Given the description of an element on the screen output the (x, y) to click on. 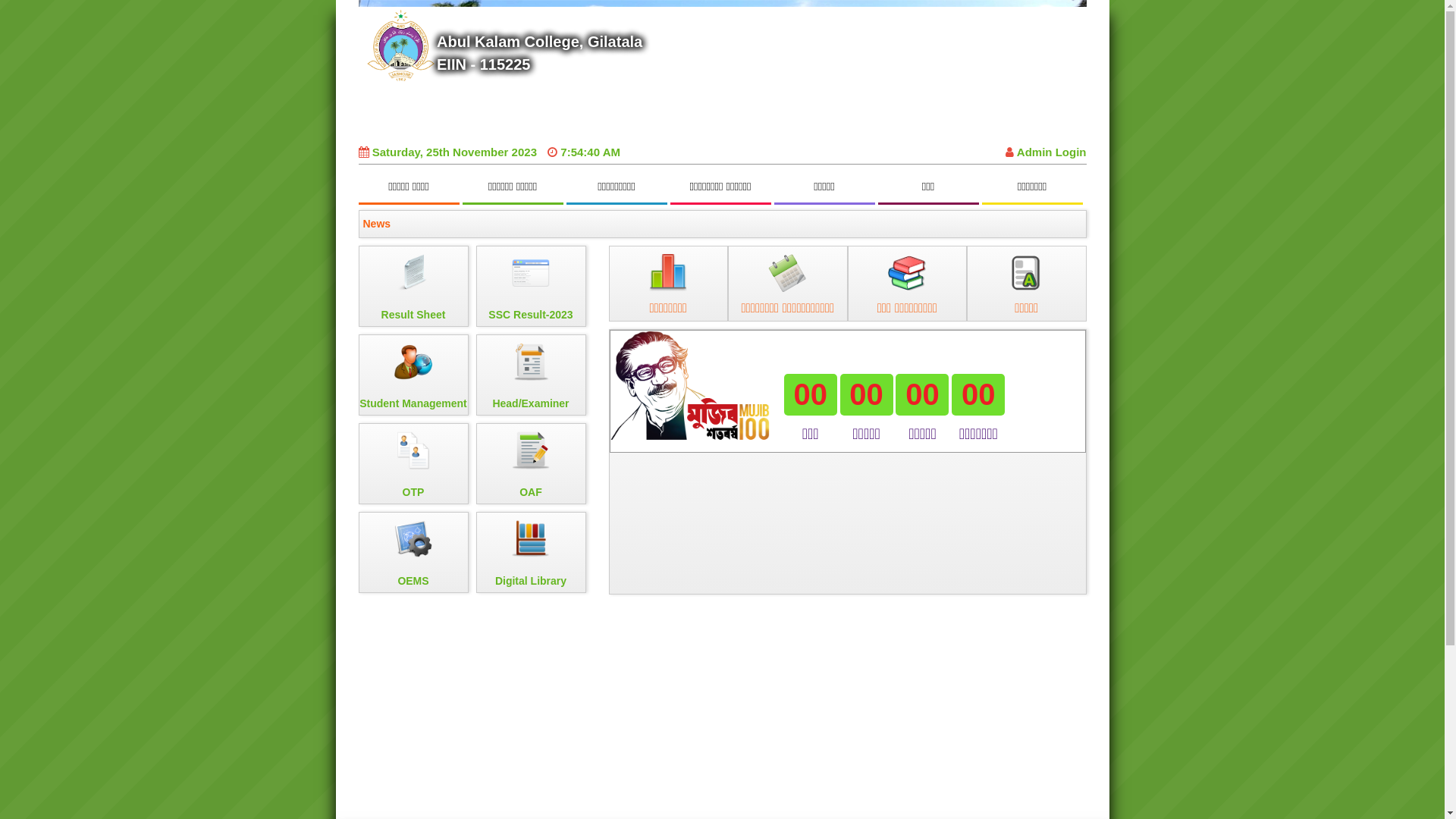
OTP Element type: text (412, 463)
Admin Login Element type: text (1045, 151)
Student Management Element type: text (412, 374)
Head/Examiner Element type: text (531, 374)
Result Sheet Element type: text (412, 285)
Digital Library Element type: text (531, 552)
SSC Result-2023 Element type: text (531, 285)
OEMS Element type: text (412, 552)
OAF Element type: text (531, 463)
